Given the description of an element on the screen output the (x, y) to click on. 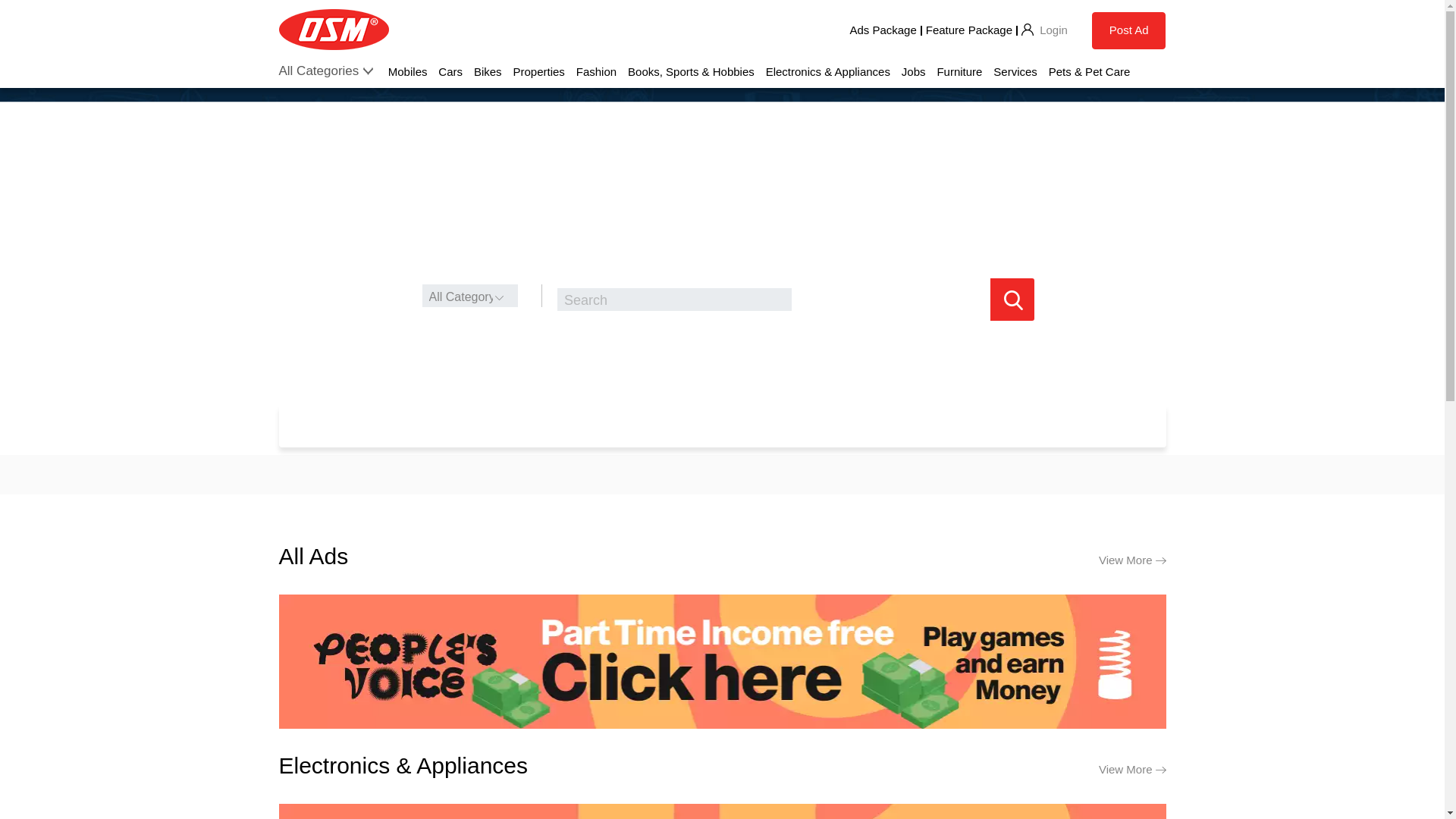
Post Ad (1129, 30)
Ads Package (882, 30)
Login (1043, 30)
Feature Package (968, 30)
All Categories (319, 71)
